Given the description of an element on the screen output the (x, y) to click on. 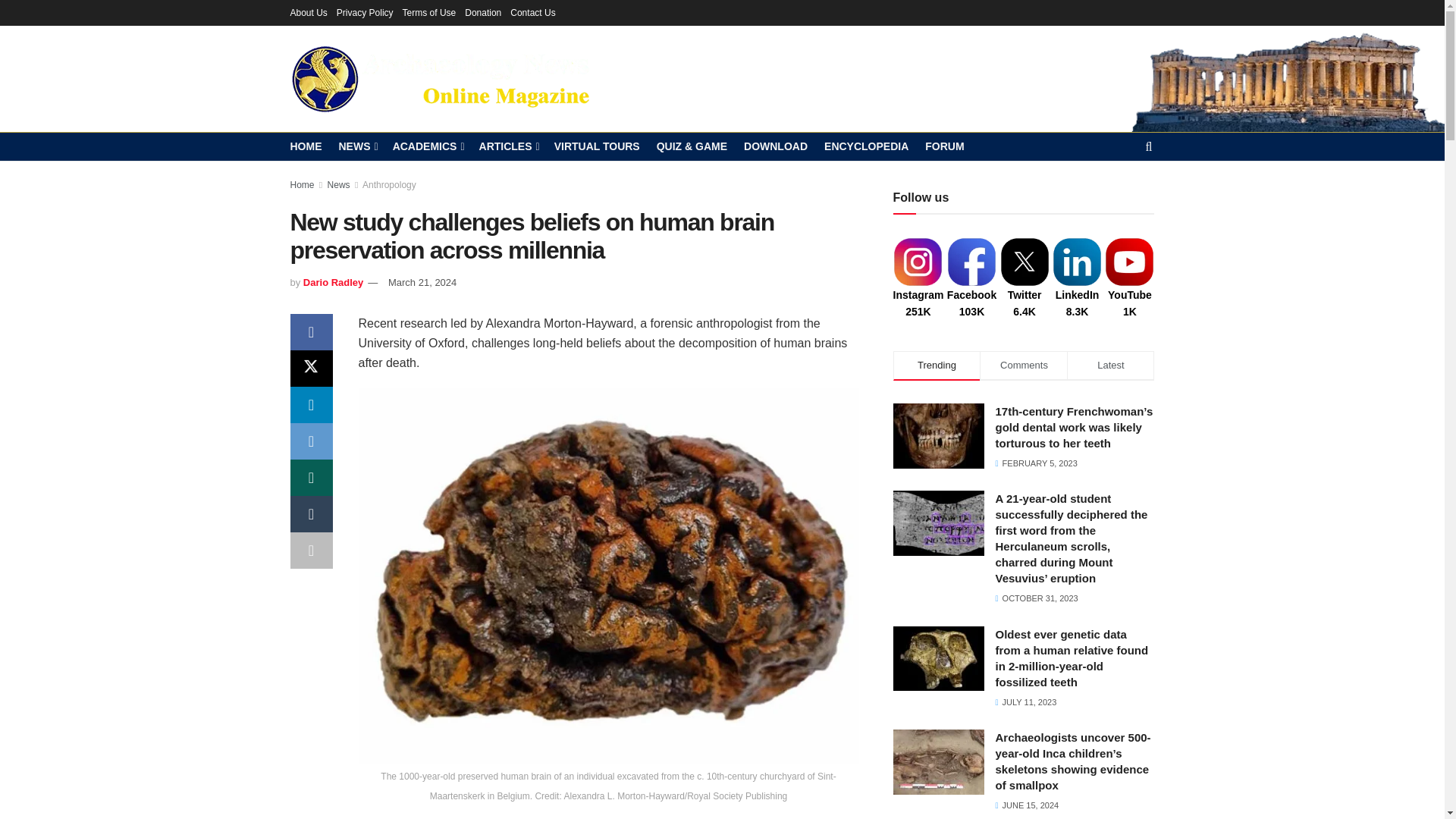
Donation (482, 12)
HOME (305, 146)
Terms of Use (430, 12)
ACADEMICS (428, 146)
ARTICLES (508, 146)
NEWS (356, 146)
About Us (307, 12)
ENCYCLOPEDIA (866, 146)
Contact Us (532, 12)
Privacy Policy (364, 12)
FORUM (943, 146)
VIRTUAL TOURS (597, 146)
DOWNLOAD (776, 146)
